Given the description of an element on the screen output the (x, y) to click on. 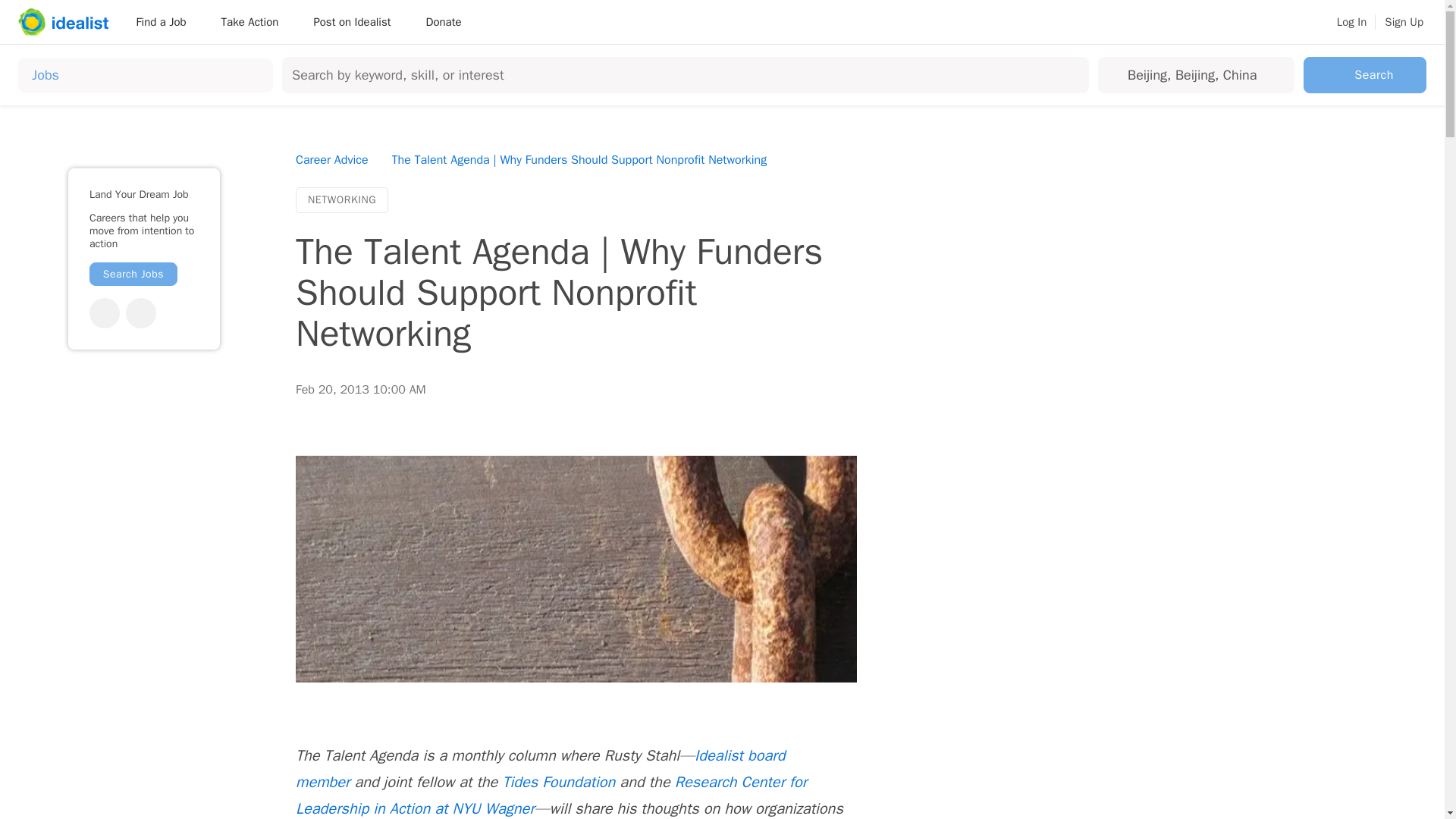
Donate (443, 21)
Search Jobs (132, 273)
Take Action (255, 21)
Beijing, Beijing, China (1193, 74)
Log In (1351, 22)
Find a Job (165, 21)
Location (1193, 74)
Search (1364, 74)
Sign Up (1403, 22)
Search Jobs (132, 272)
Post on Idealist (357, 21)
